Given the description of an element on the screen output the (x, y) to click on. 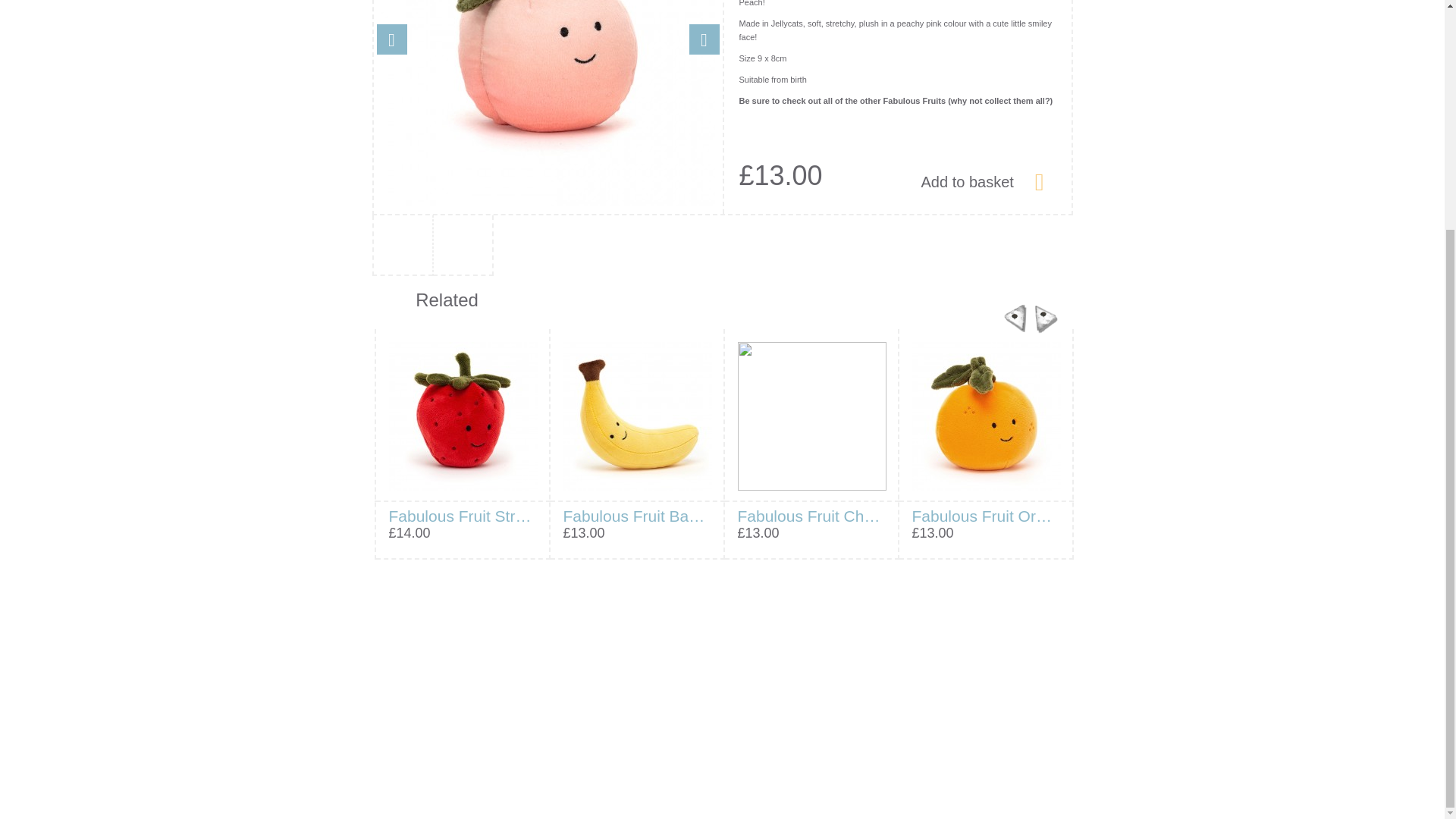
Contact Us (397, 702)
Gift Vouchers (403, 732)
Add to basket (980, 180)
Exesios BDD (743, 801)
Terms and Conditions (610, 702)
About Us (392, 671)
Site Map (580, 732)
Delivery Information (418, 762)
